Given the description of an element on the screen output the (x, y) to click on. 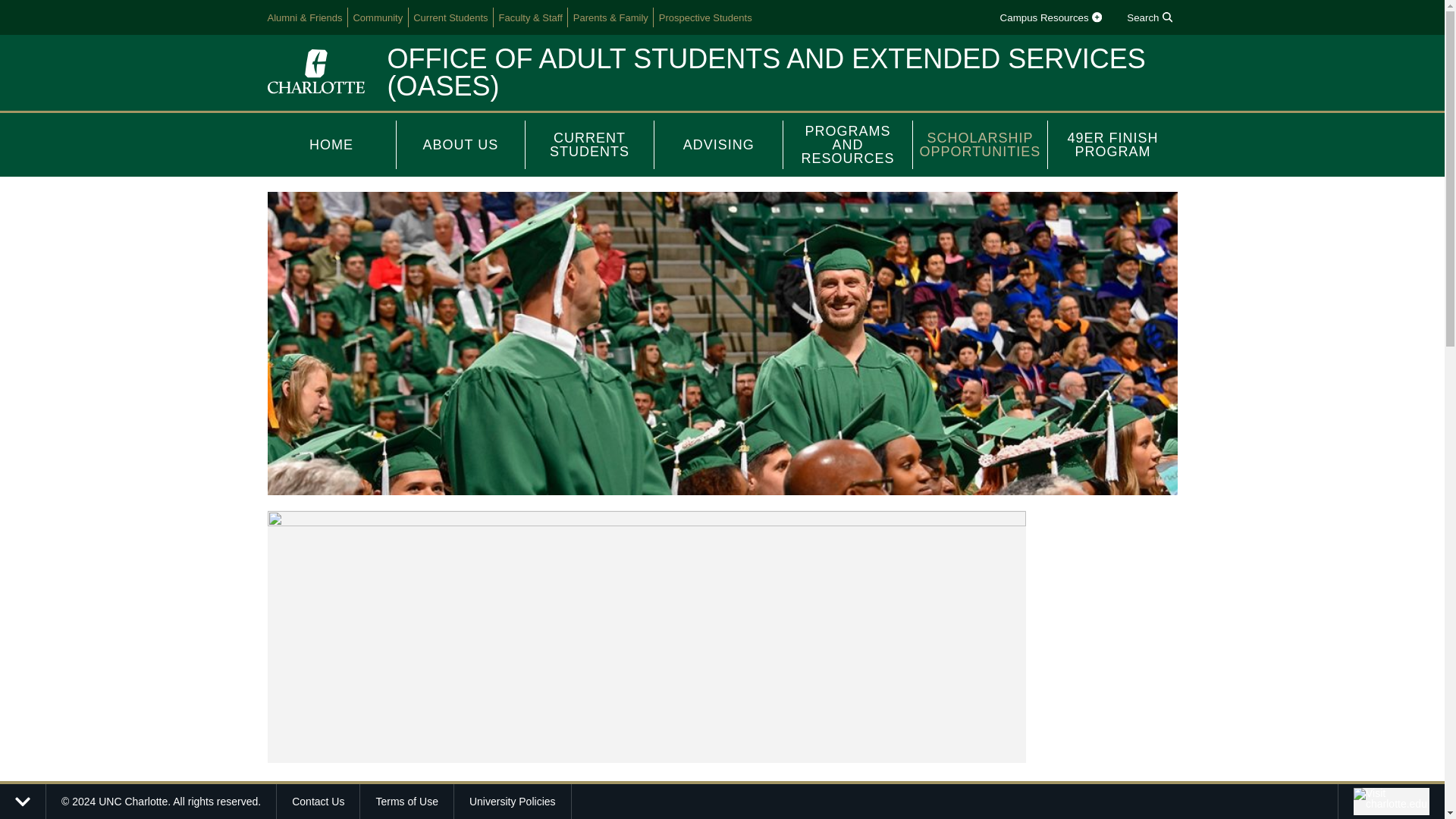
Community (378, 17)
Search (1149, 16)
HOME (331, 144)
Prospective Students (705, 17)
Current Students (451, 17)
ABOUT US (460, 144)
Campus Resources (1050, 16)
